Given the description of an element on the screen output the (x, y) to click on. 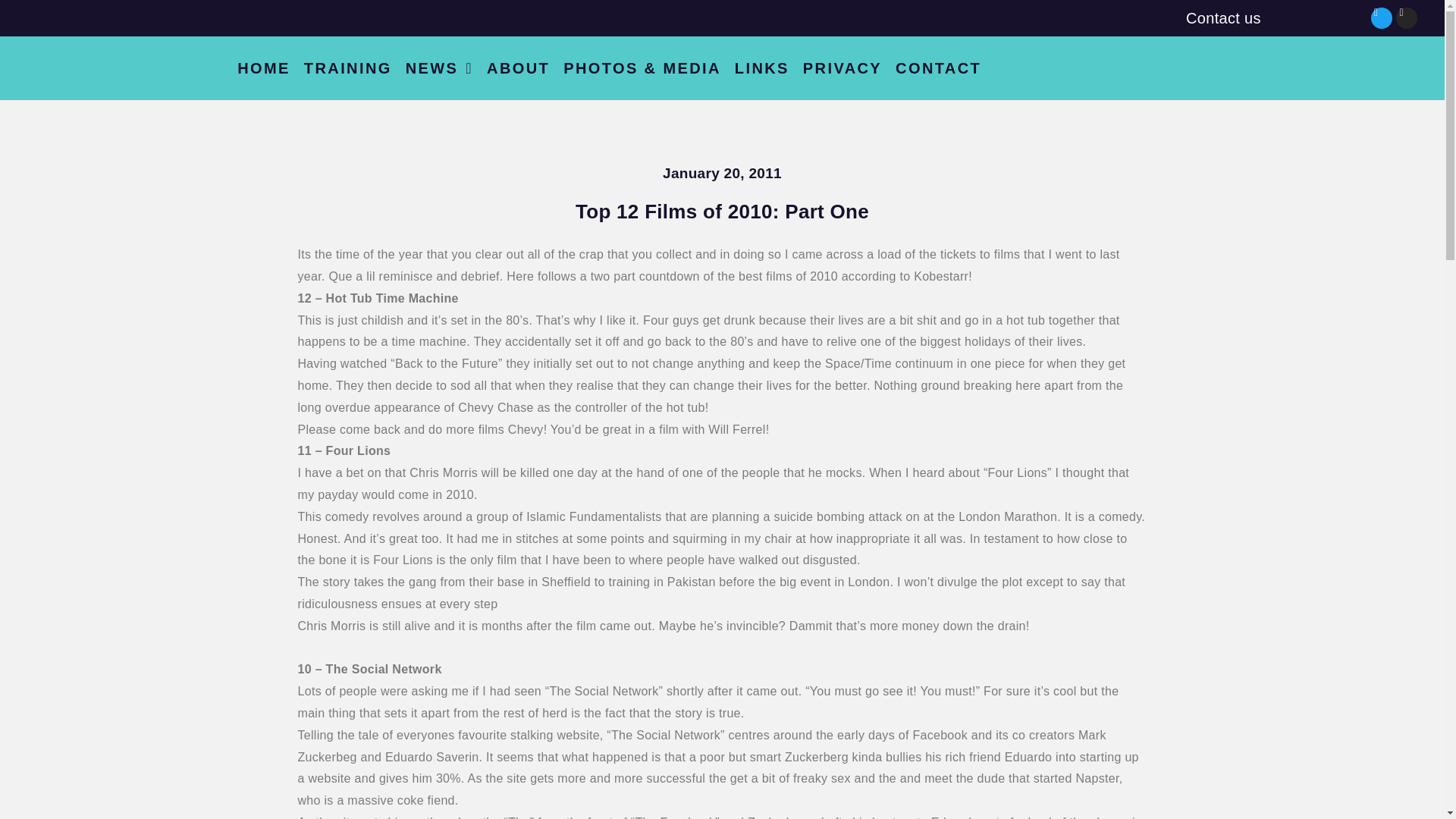
HOME (263, 68)
ABOUT (518, 68)
LINKS (762, 68)
NEWS (439, 68)
PRIVACY (842, 68)
January 20, 2011 (721, 173)
TRAINING (347, 68)
CONTACT (938, 68)
